Given the description of an element on the screen output the (x, y) to click on. 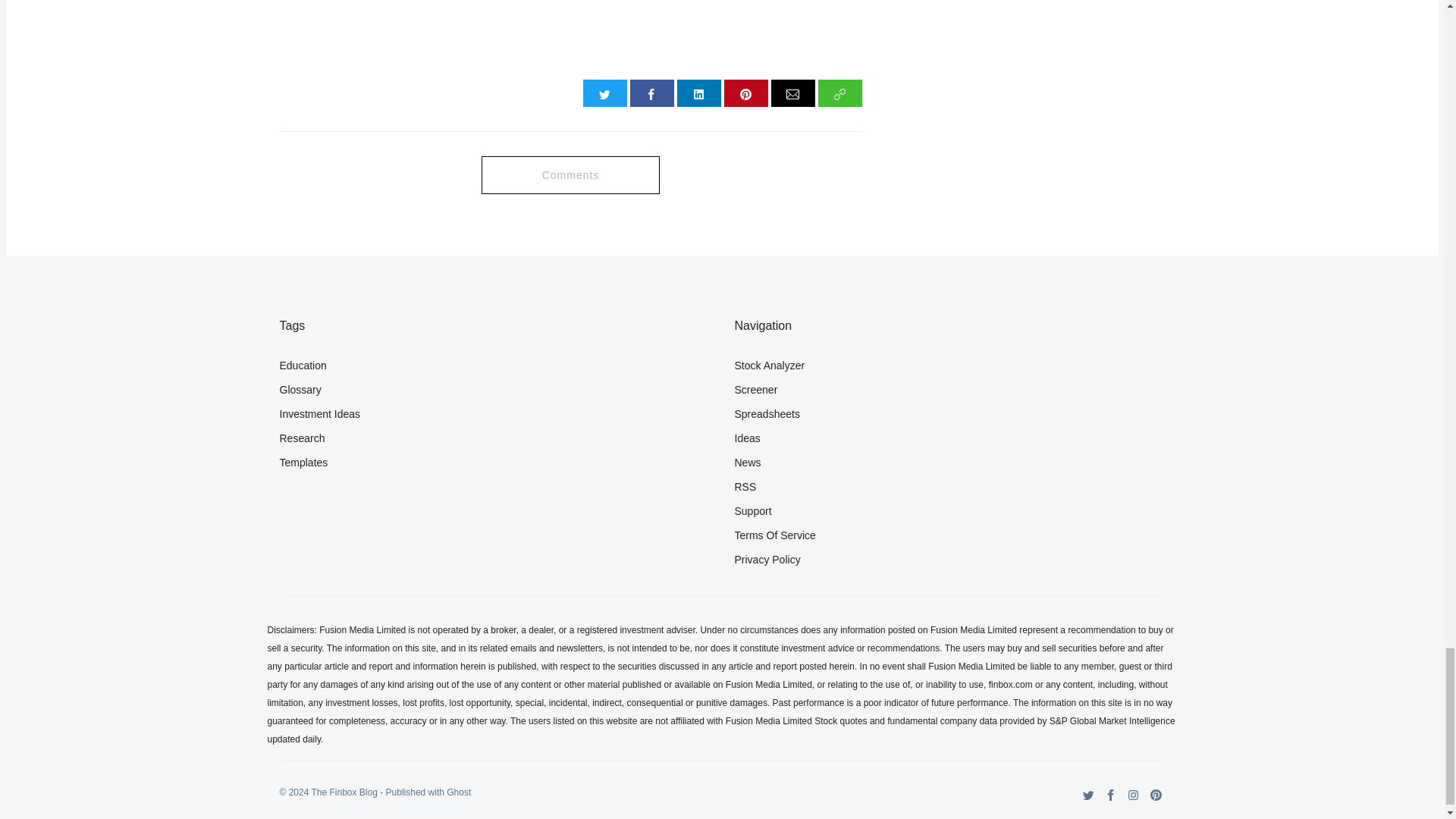
Share on LinkedIn (698, 93)
Share on Facebook (652, 93)
Share on Twitter (605, 93)
Comments (570, 175)
Copy link (839, 93)
Share on Pinterest (745, 93)
Share via Email (793, 93)
